Given the description of an element on the screen output the (x, y) to click on. 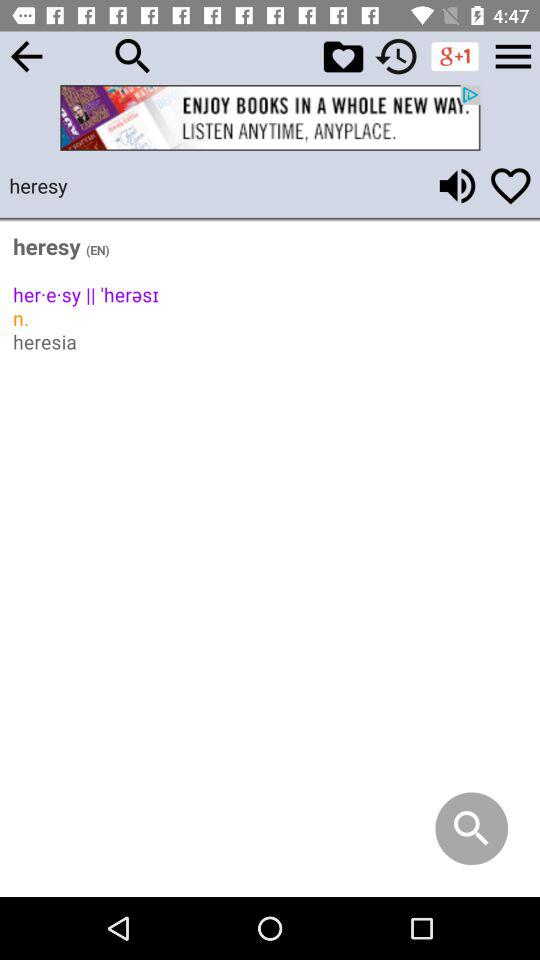
go to back (26, 56)
